Given the description of an element on the screen output the (x, y) to click on. 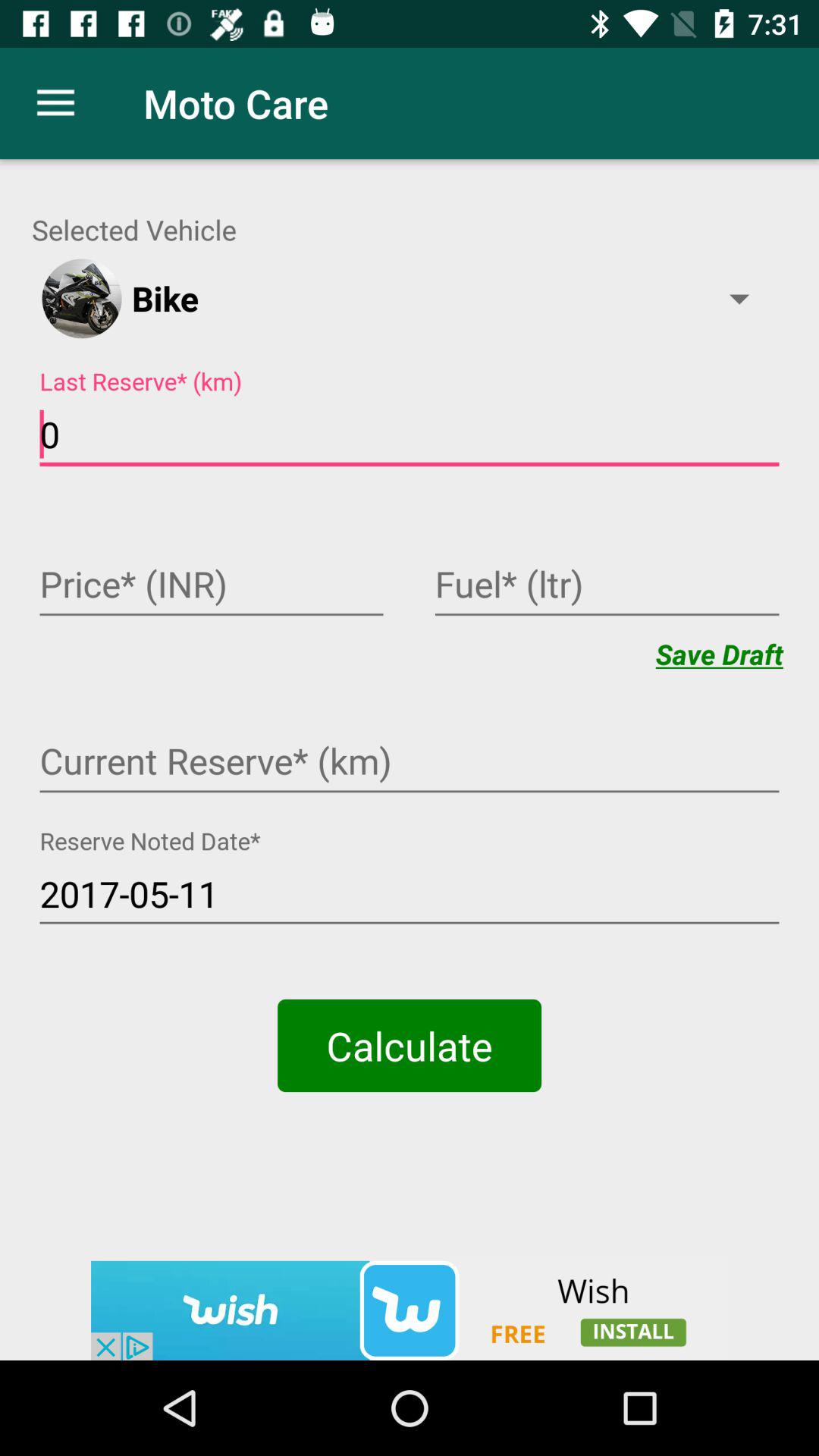
enter text in fuel field (607, 586)
